Given the description of an element on the screen output the (x, y) to click on. 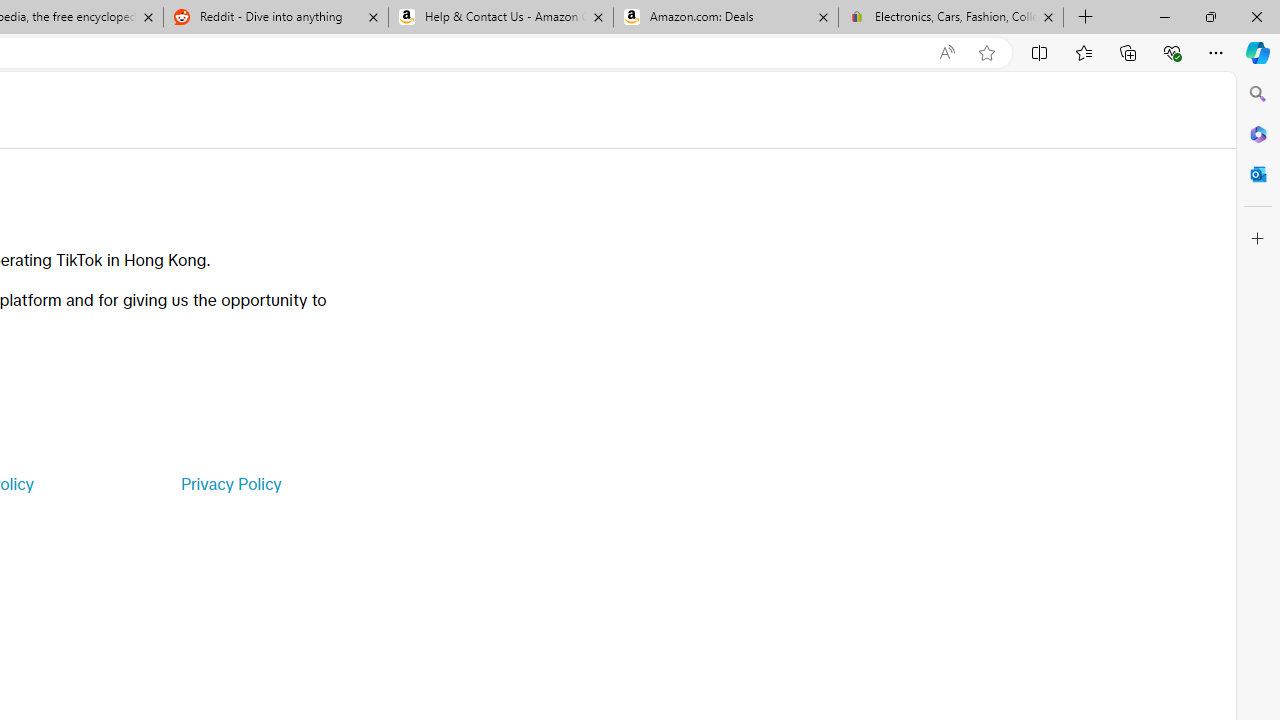
Privacy Policy (230, 484)
Amazon.com: Deals (726, 17)
